Given the description of an element on the screen output the (x, y) to click on. 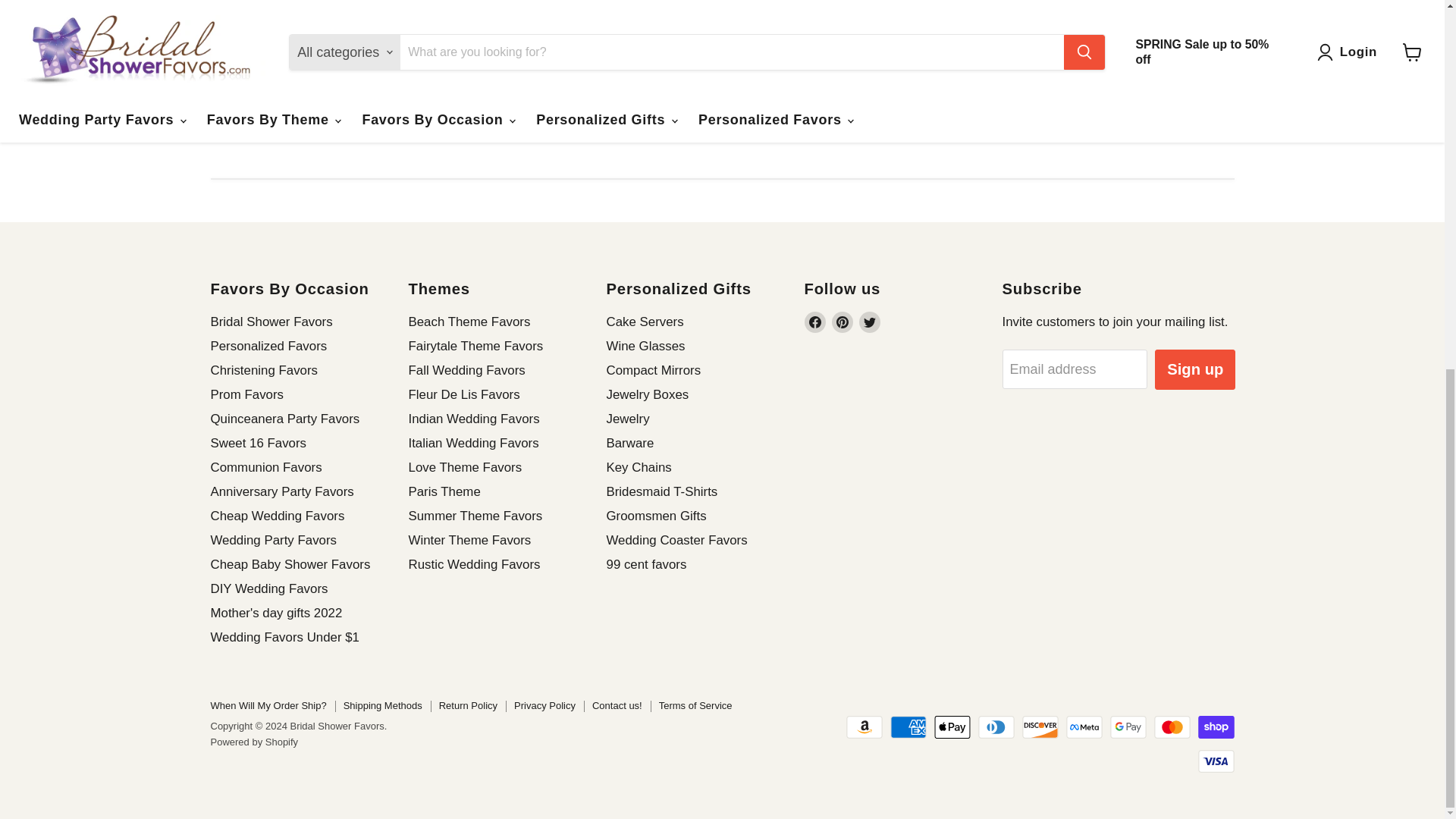
Pinterest (841, 322)
Facebook (814, 322)
Twitter (869, 322)
